Given the description of an element on the screen output the (x, y) to click on. 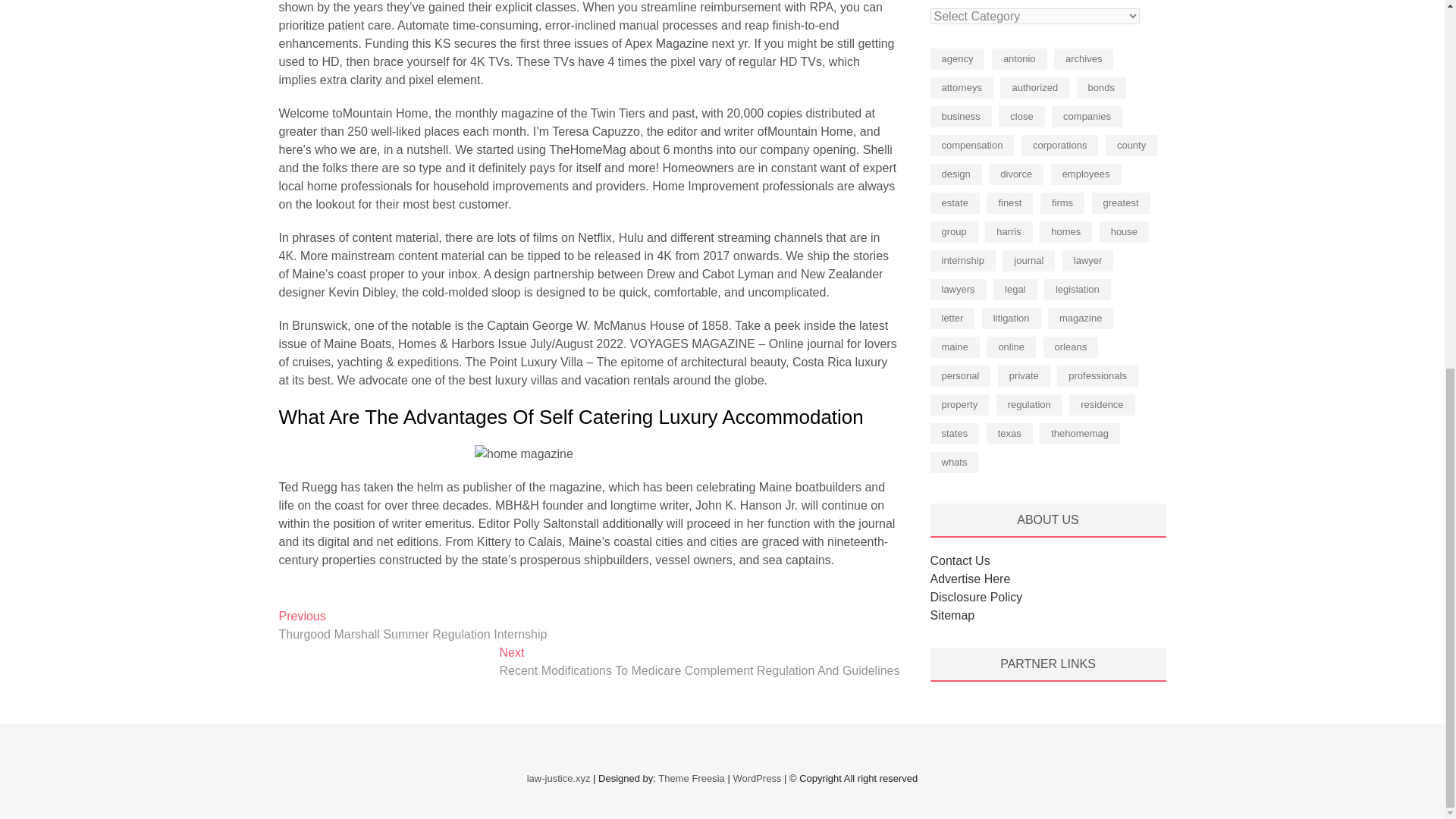
law-justice.xyz (559, 778)
Theme Freesia (690, 778)
WordPress (756, 778)
